Given the description of an element on the screen output the (x, y) to click on. 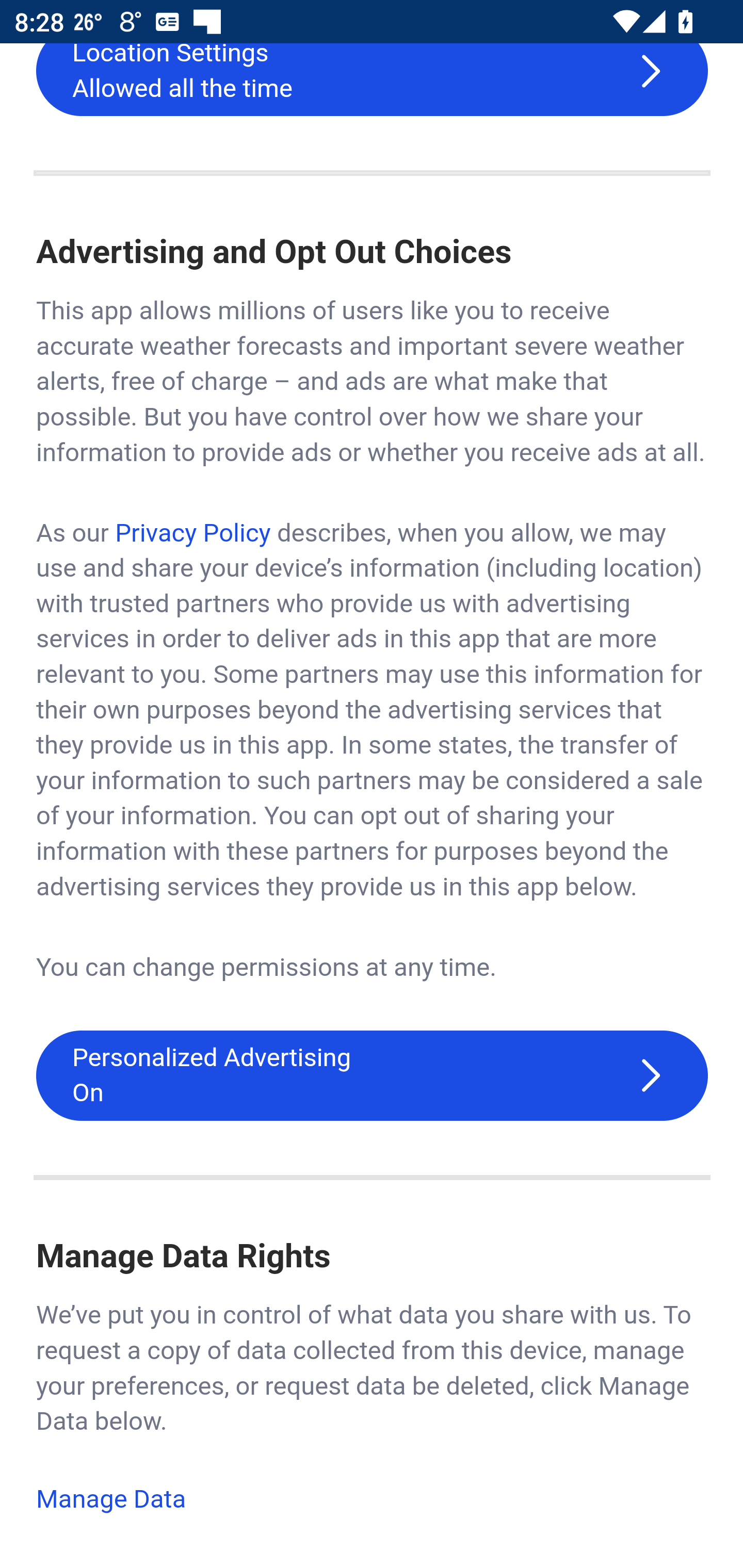
Open privacy policy in browser (192, 533)
Manage Data (111, 1500)
